Given the description of an element on the screen output the (x, y) to click on. 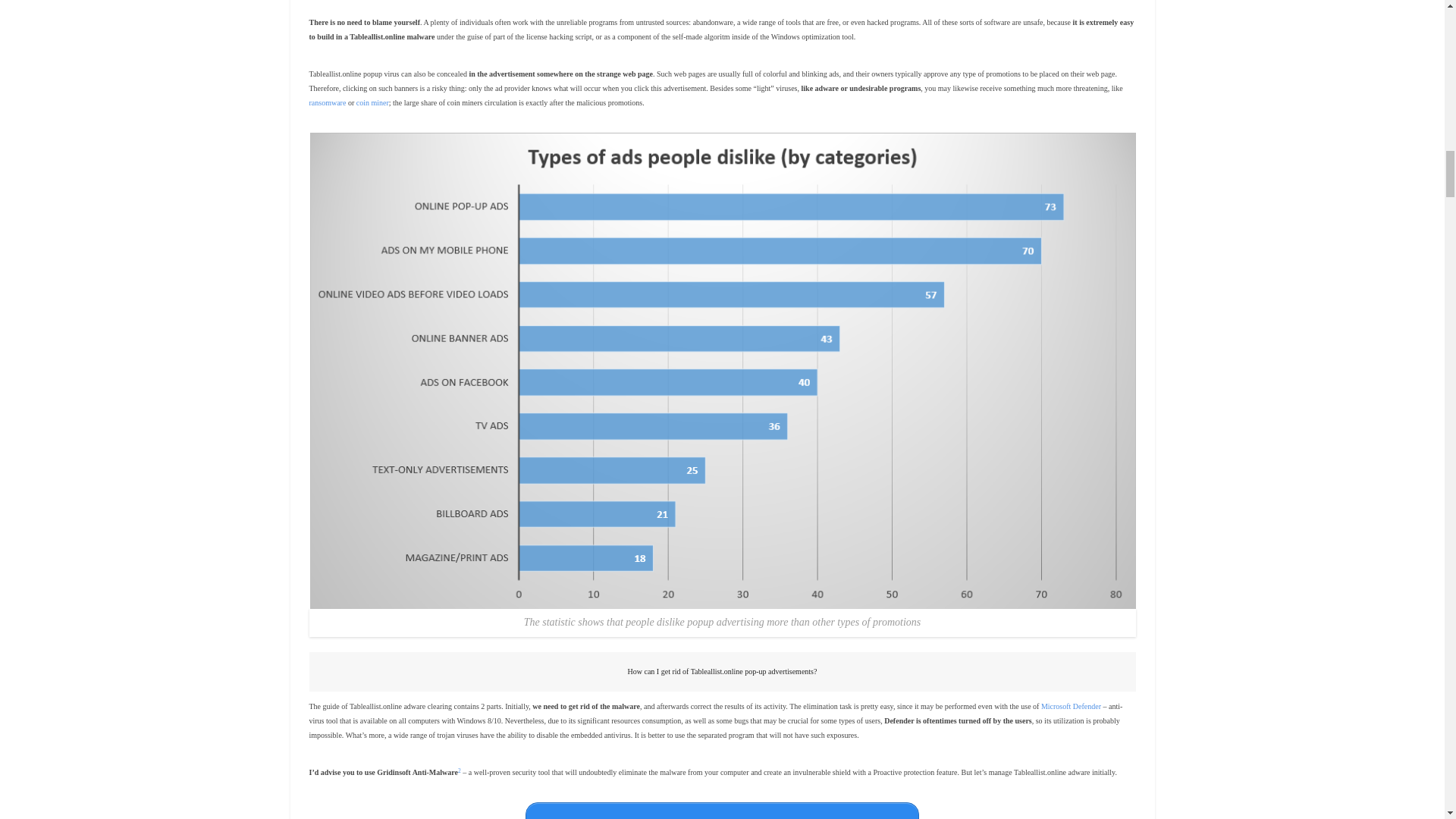
ransomware (327, 102)
coin miner (372, 102)
